Given the description of an element on the screen output the (x, y) to click on. 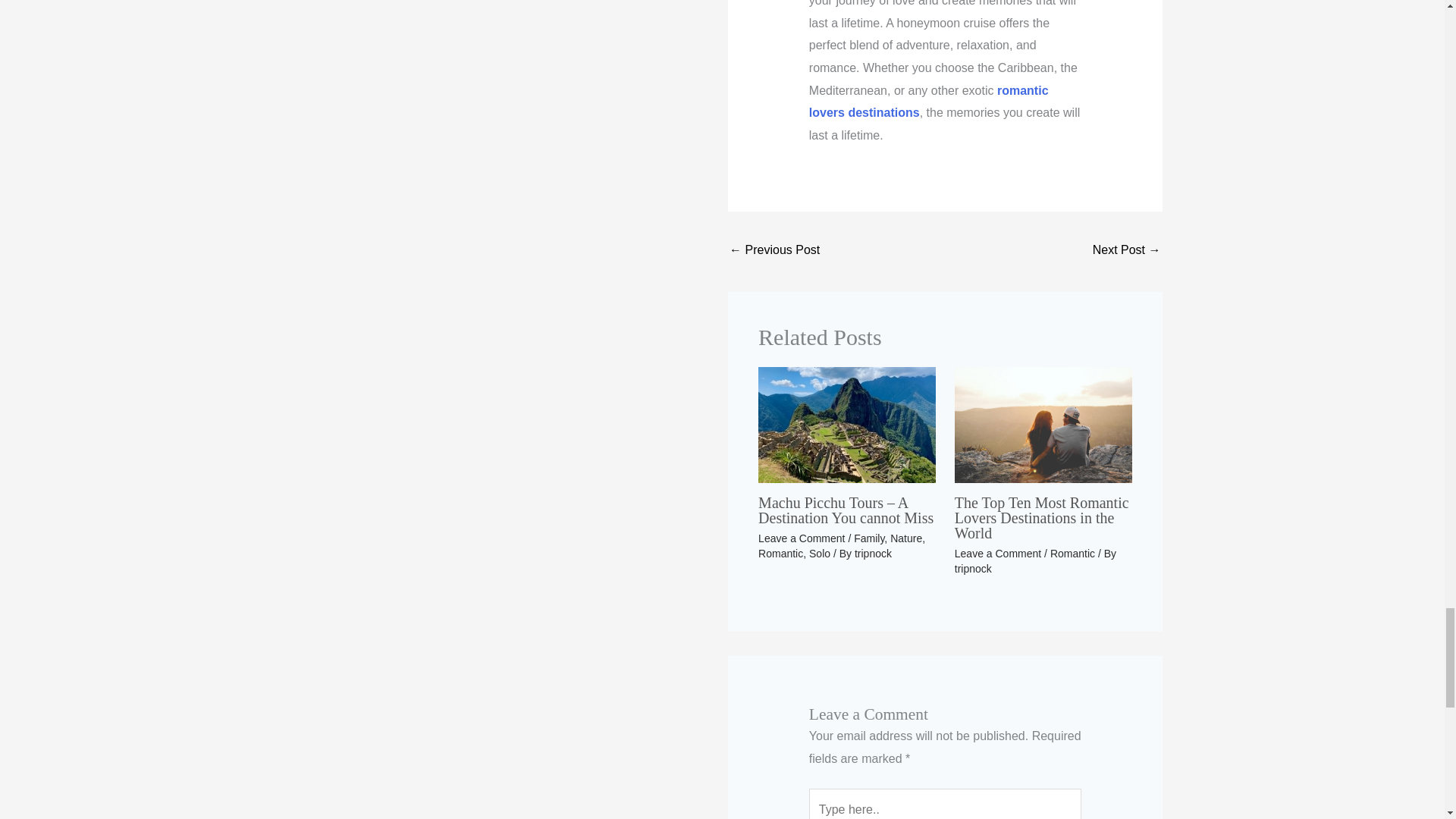
romantic lovers destinations (928, 101)
View all posts by tripnock (872, 553)
Exclusive Hot Air Balloon Rides: New Heights of Adventure (1126, 251)
View all posts by tripnock (973, 568)
Discover the Best Scuba Diving Spots: Dive into Adventure (774, 251)
